Given the description of an element on the screen output the (x, y) to click on. 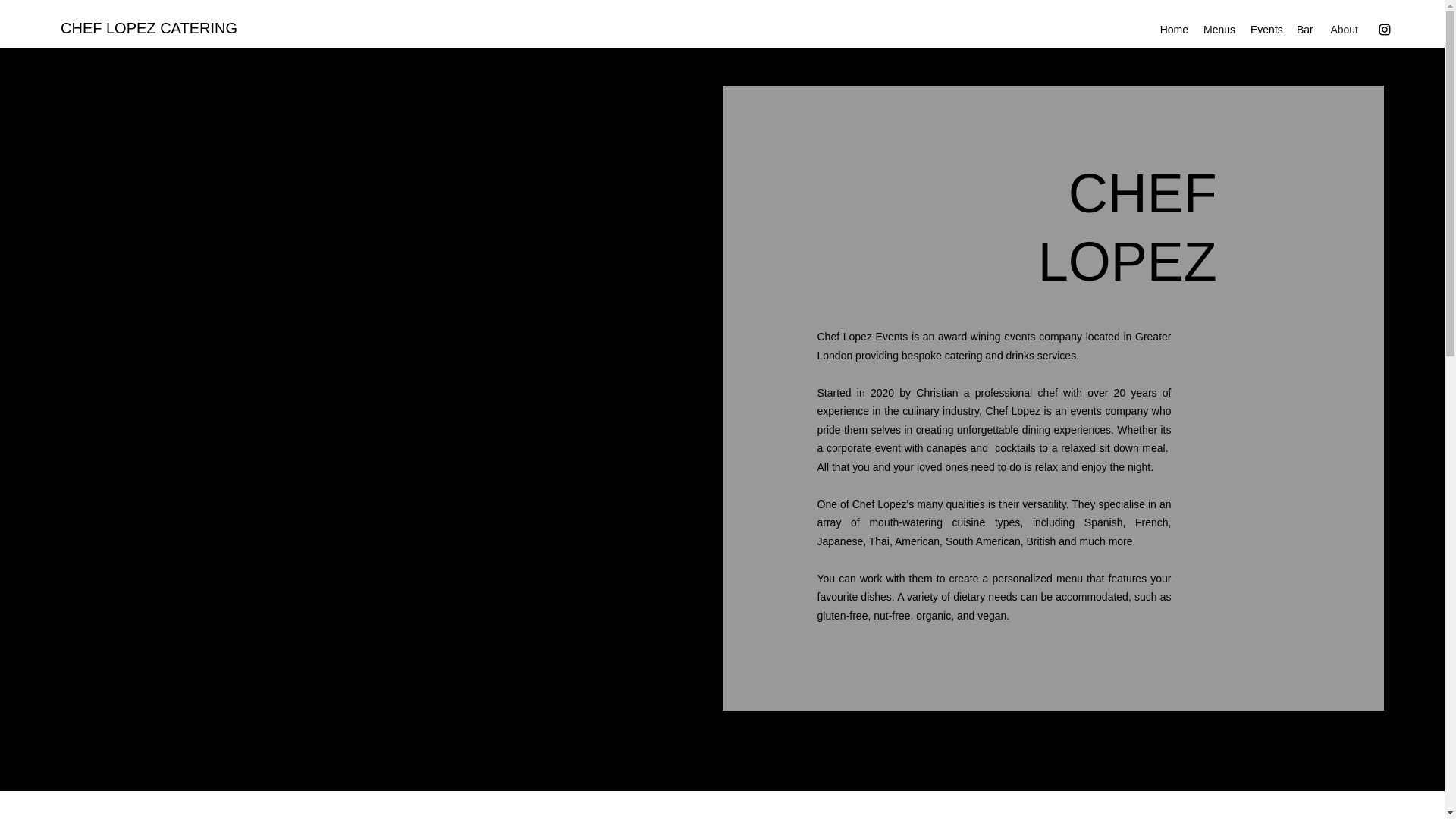
CHEF LOPEZ CATERING (149, 27)
Events (1265, 29)
About (1342, 29)
Bar (1304, 29)
Home (1173, 29)
Menus (1219, 29)
